Given the description of an element on the screen output the (x, y) to click on. 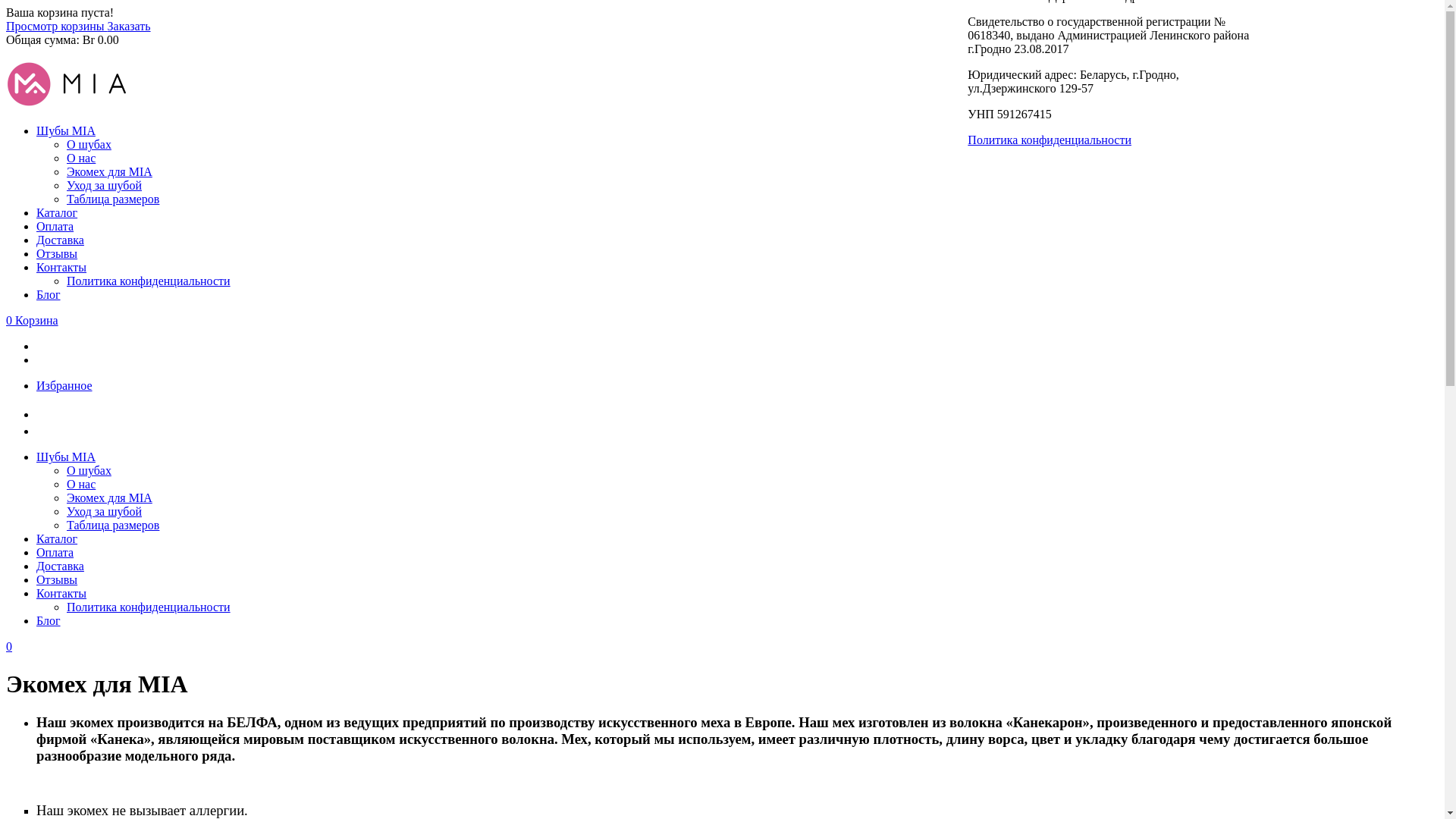
0 Element type: text (9, 646)
